Given the description of an element on the screen output the (x, y) to click on. 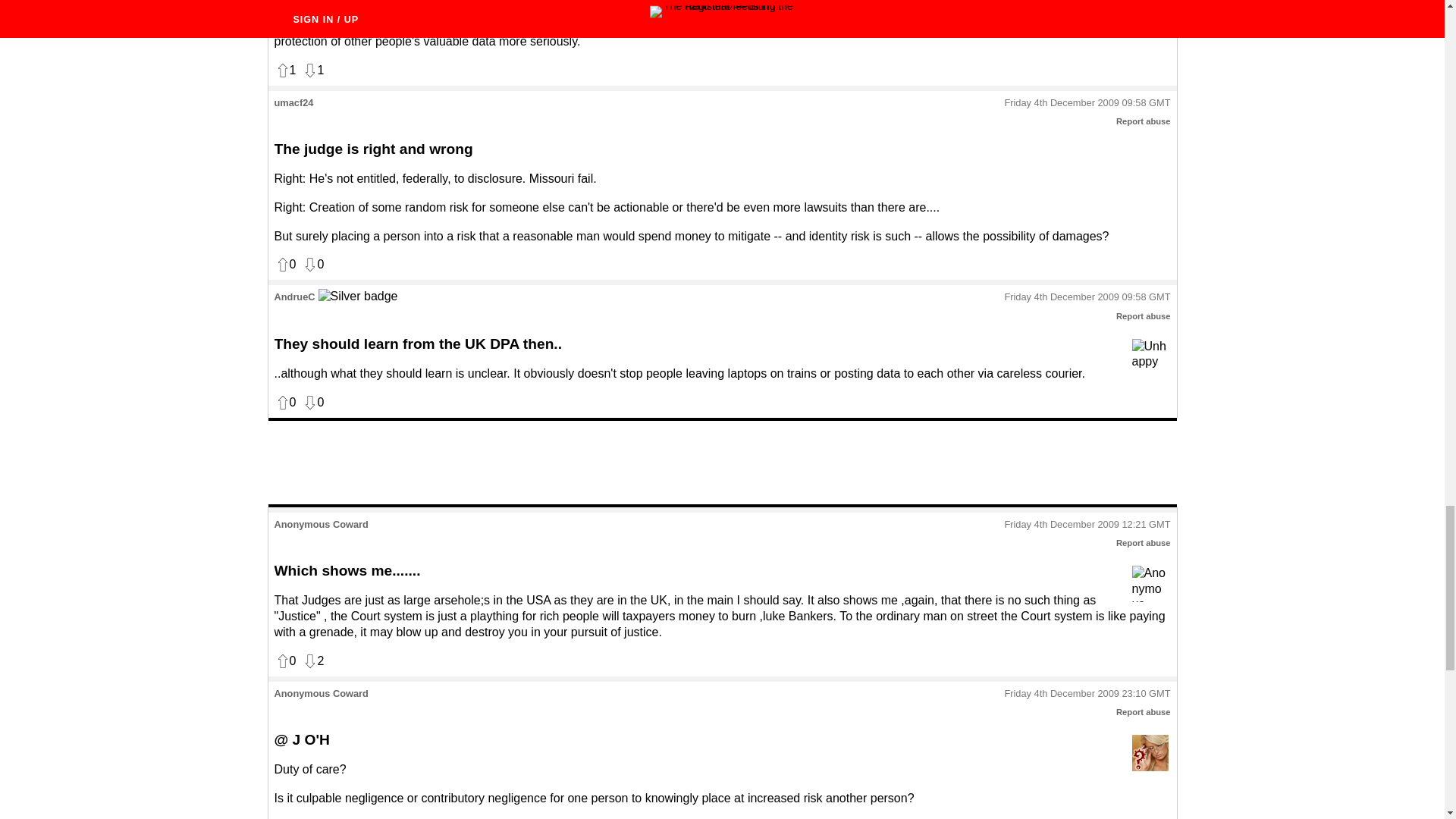
Report abuse (1143, 711)
Report abuse (1143, 542)
Report abuse (1143, 121)
Report abuse (1143, 316)
